Given the description of an element on the screen output the (x, y) to click on. 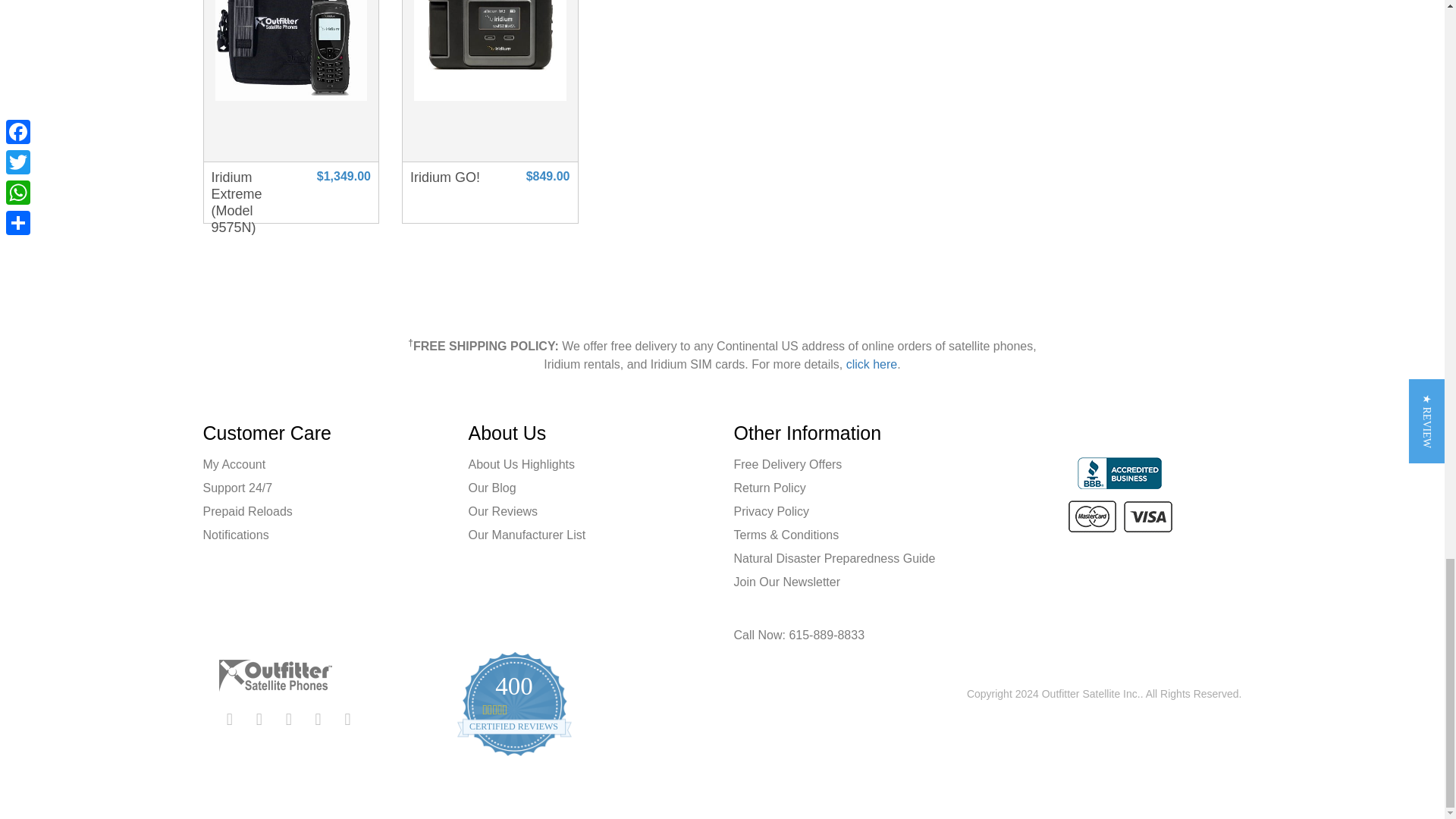
Follow Us on Twitter (256, 719)
Follow Us on Instagram (314, 719)
Like Us on Facebook (227, 719)
Subscribe to our Channel (285, 719)
Subscribe to our Blog (345, 719)
